Given the description of an element on the screen output the (x, y) to click on. 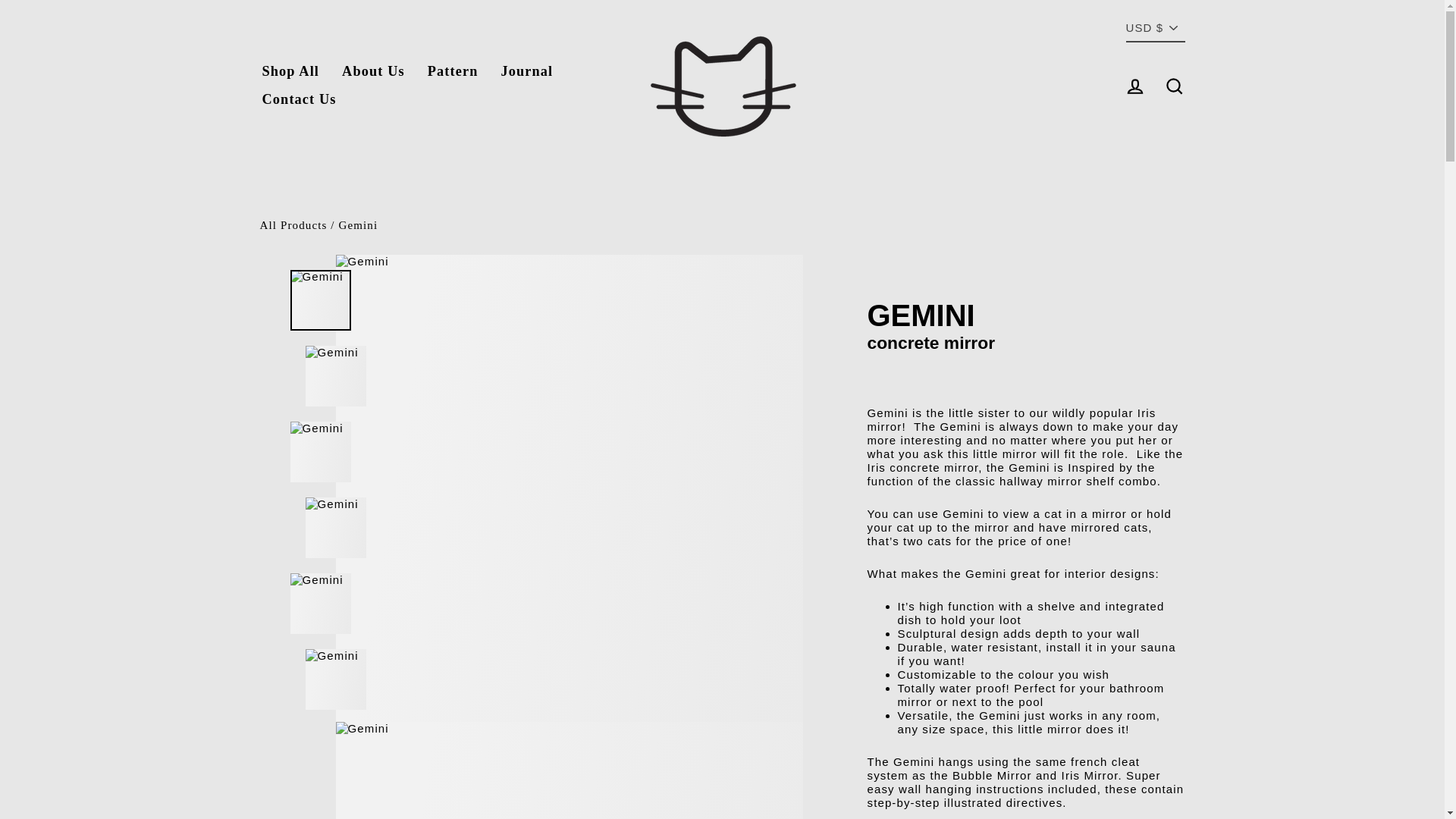
Gemini (357, 224)
Contact Us (298, 100)
Shop All (290, 72)
Pattern (452, 72)
Journal (526, 72)
All Products (292, 224)
About Us (373, 72)
Log in (1134, 85)
Search (1173, 85)
